Given the description of an element on the screen output the (x, y) to click on. 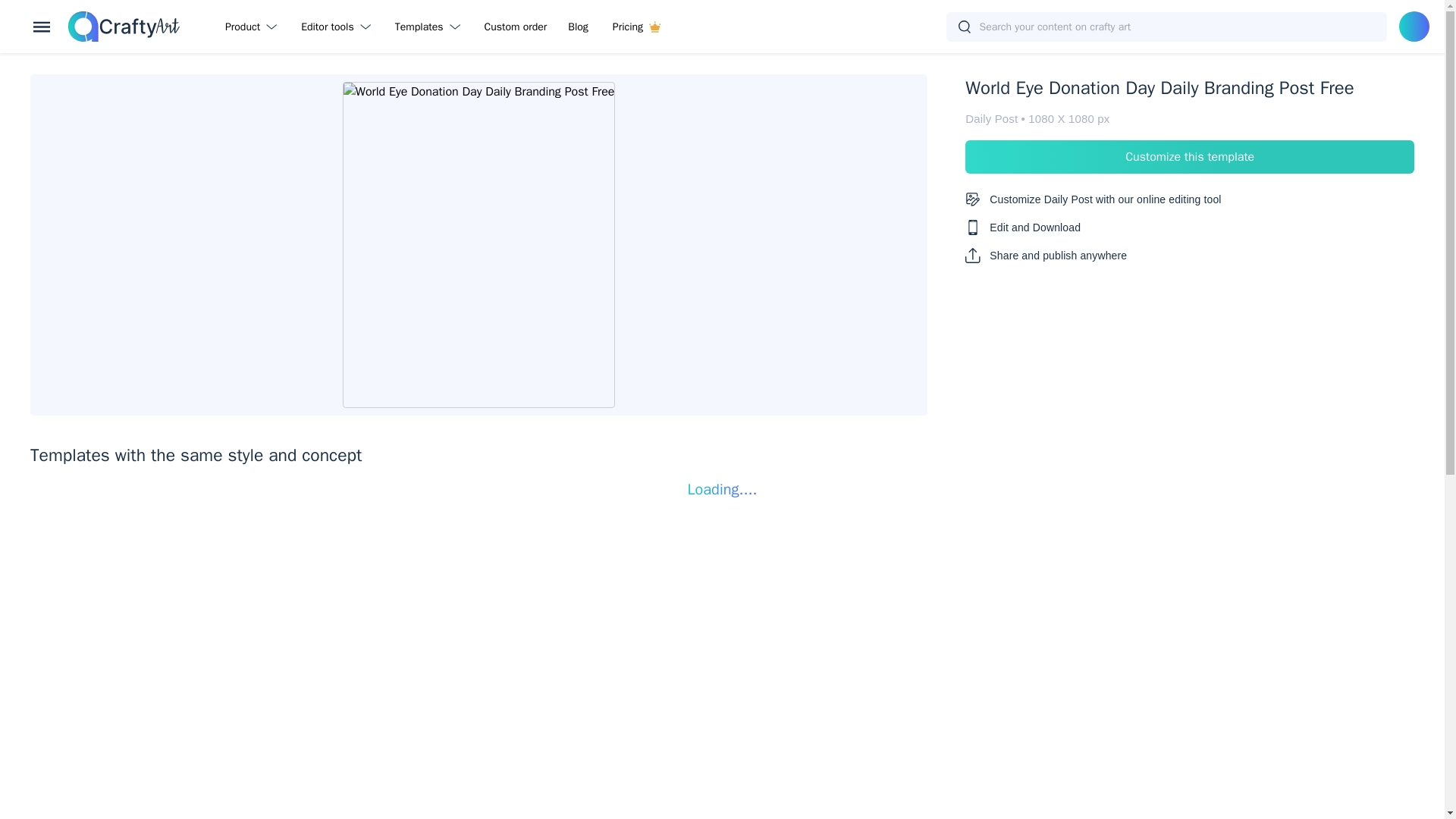
Templates (430, 26)
Editor tools (338, 26)
Product (253, 26)
Custom order (516, 26)
Pricing (635, 26)
Blog (577, 26)
